Given the description of an element on the screen output the (x, y) to click on. 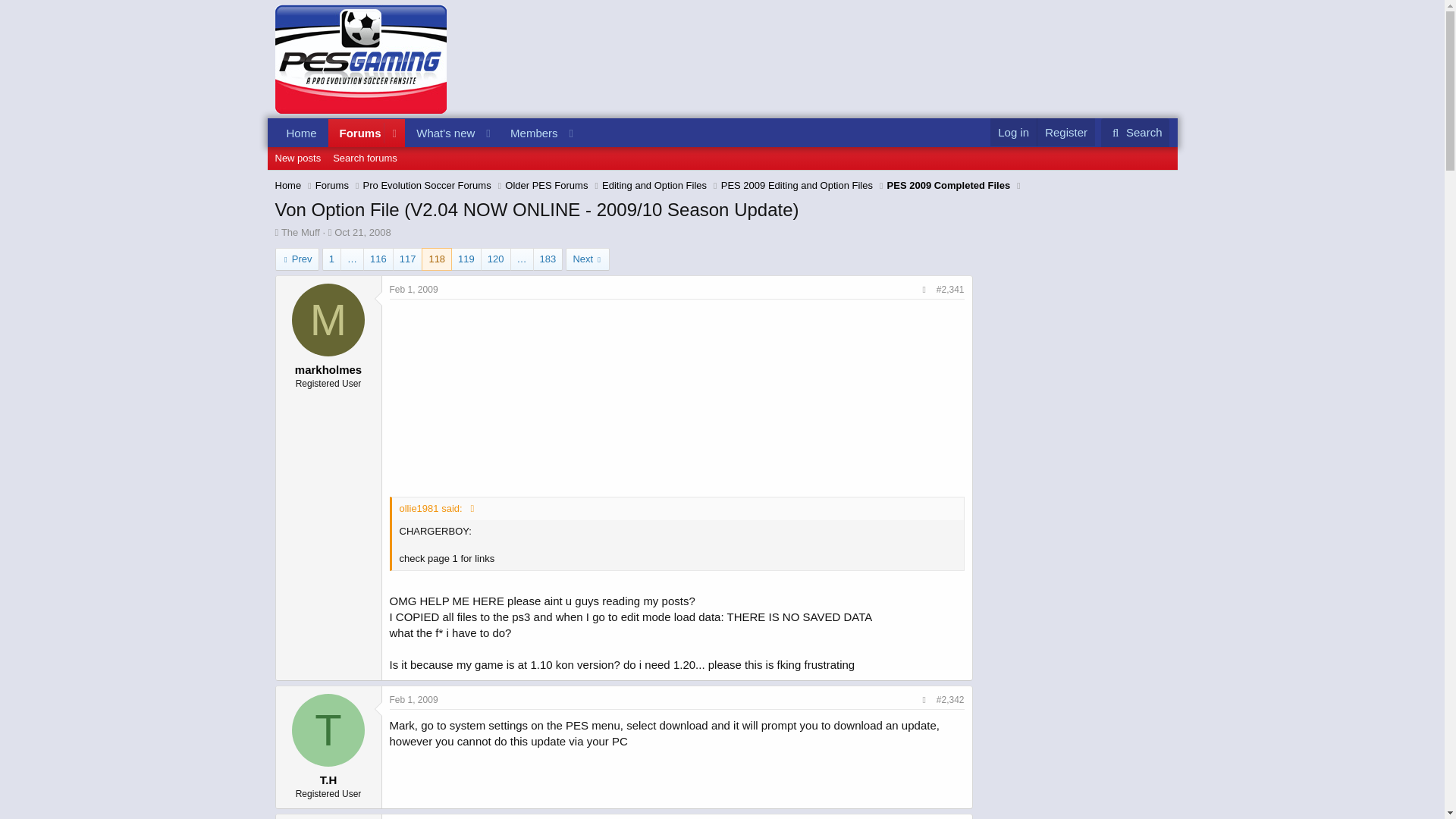
Feb 1, 2009 at 6:07 PM (414, 289)
Log in (1013, 131)
Search (1135, 132)
Forums (427, 132)
Home (332, 185)
Register (301, 132)
Older PES Forums (1065, 131)
Oct 21, 2008 (546, 185)
Forums (362, 232)
